Given the description of an element on the screen output the (x, y) to click on. 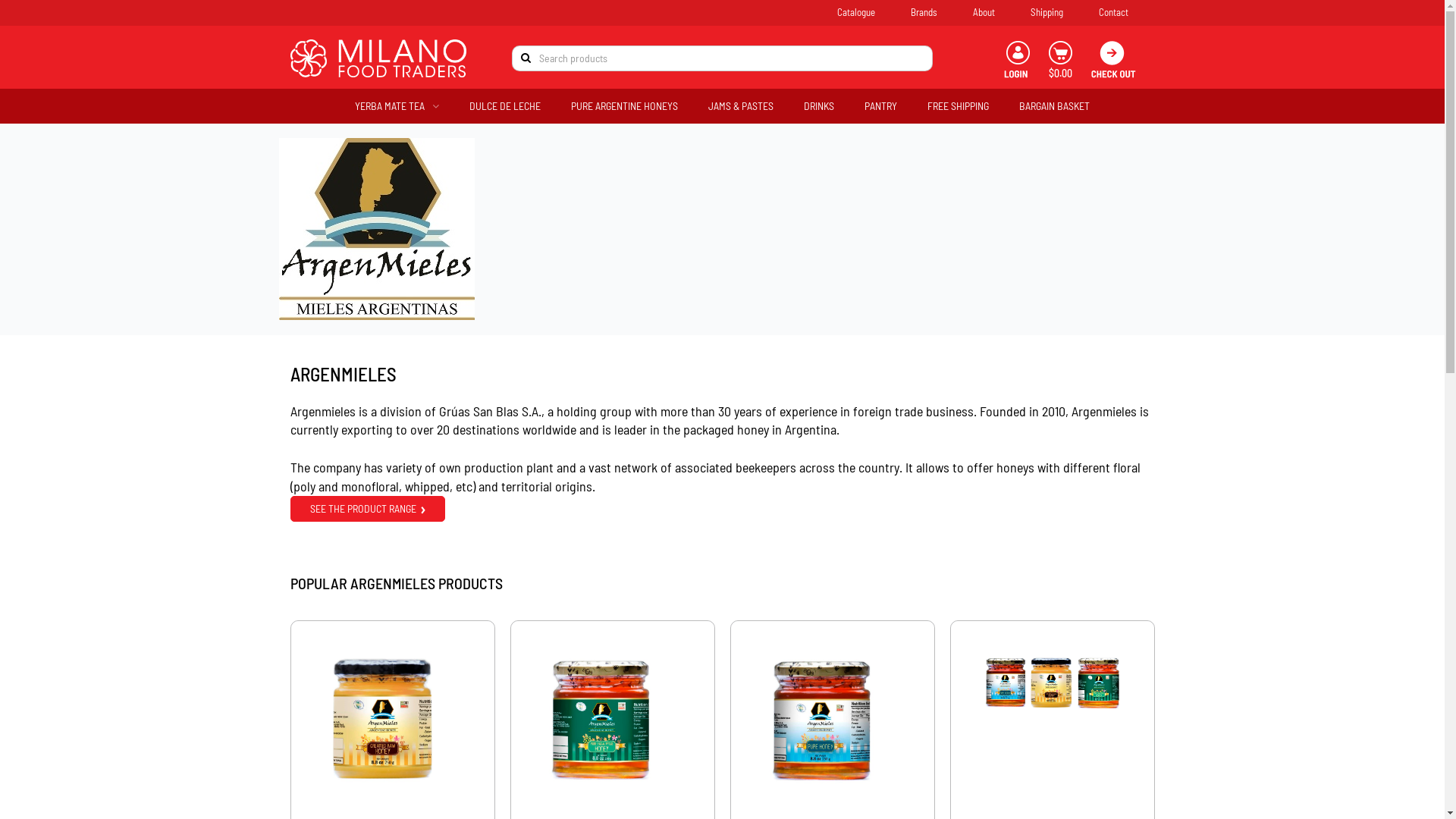
About Element type: text (996, 12)
DULCE DE LECHE Element type: text (504, 105)
Catalogue Element type: text (869, 12)
BARGAIN BASKET Element type: text (1054, 105)
Brands Element type: text (936, 12)
$0.00 Element type: text (1059, 61)
FREE SHIPPING Element type: text (958, 105)
YERBA MATE TEA Element type: text (396, 105)
Contact Element type: text (1126, 12)
JAMS & PASTES Element type: text (740, 105)
PURE ARGENTINE HONEYS Element type: text (624, 105)
Shipping Element type: text (1058, 12)
DRINKS Element type: text (818, 105)
SEE THE PRODUCT RANGE   Element type: text (366, 508)
PANTRY Element type: text (880, 105)
